Given the description of an element on the screen output the (x, y) to click on. 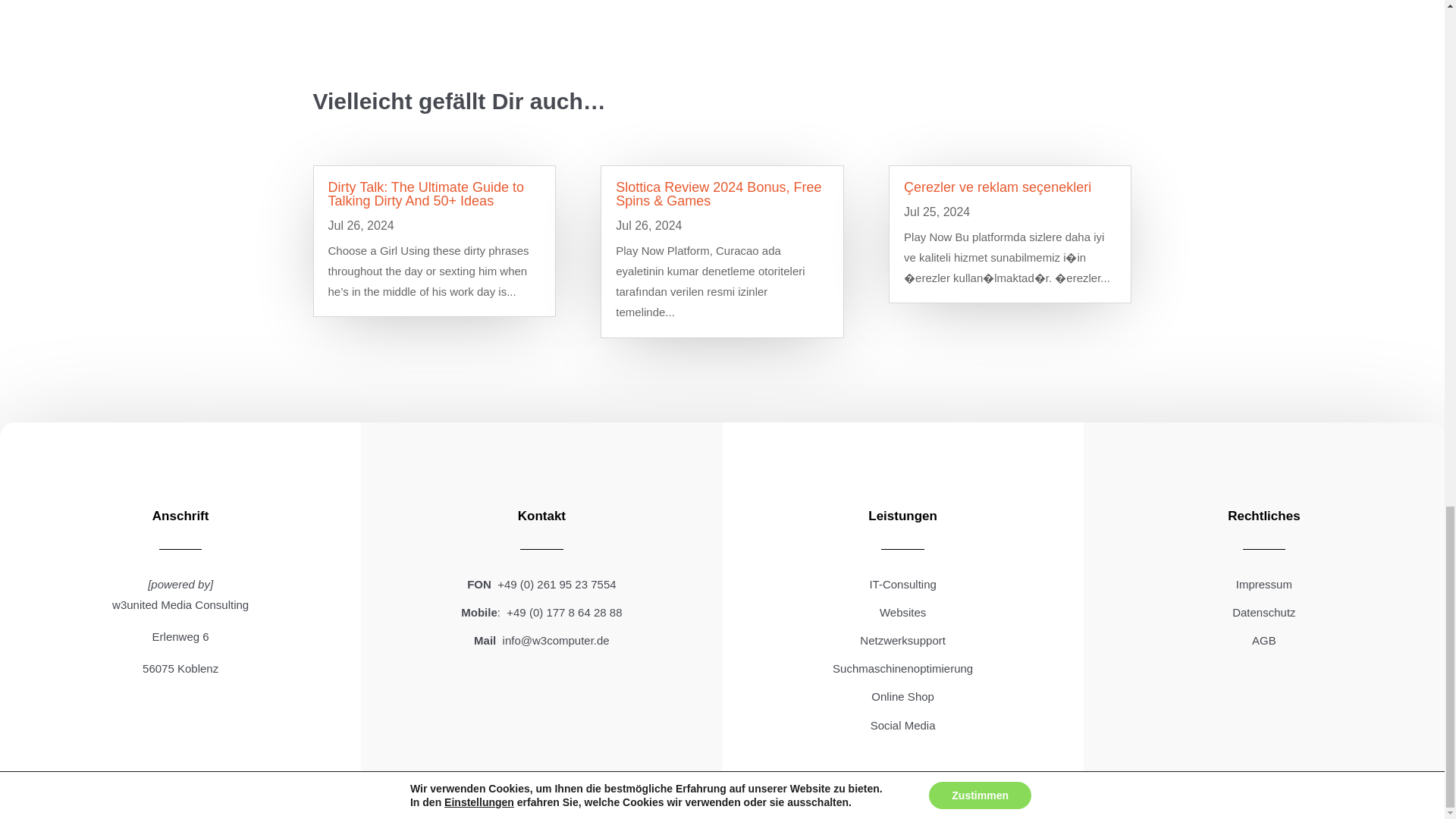
Webdesign Typo3 (902, 612)
Netzwerksupport (902, 640)
IT Beratung Koblenz (902, 584)
